Given the description of an element on the screen output the (x, y) to click on. 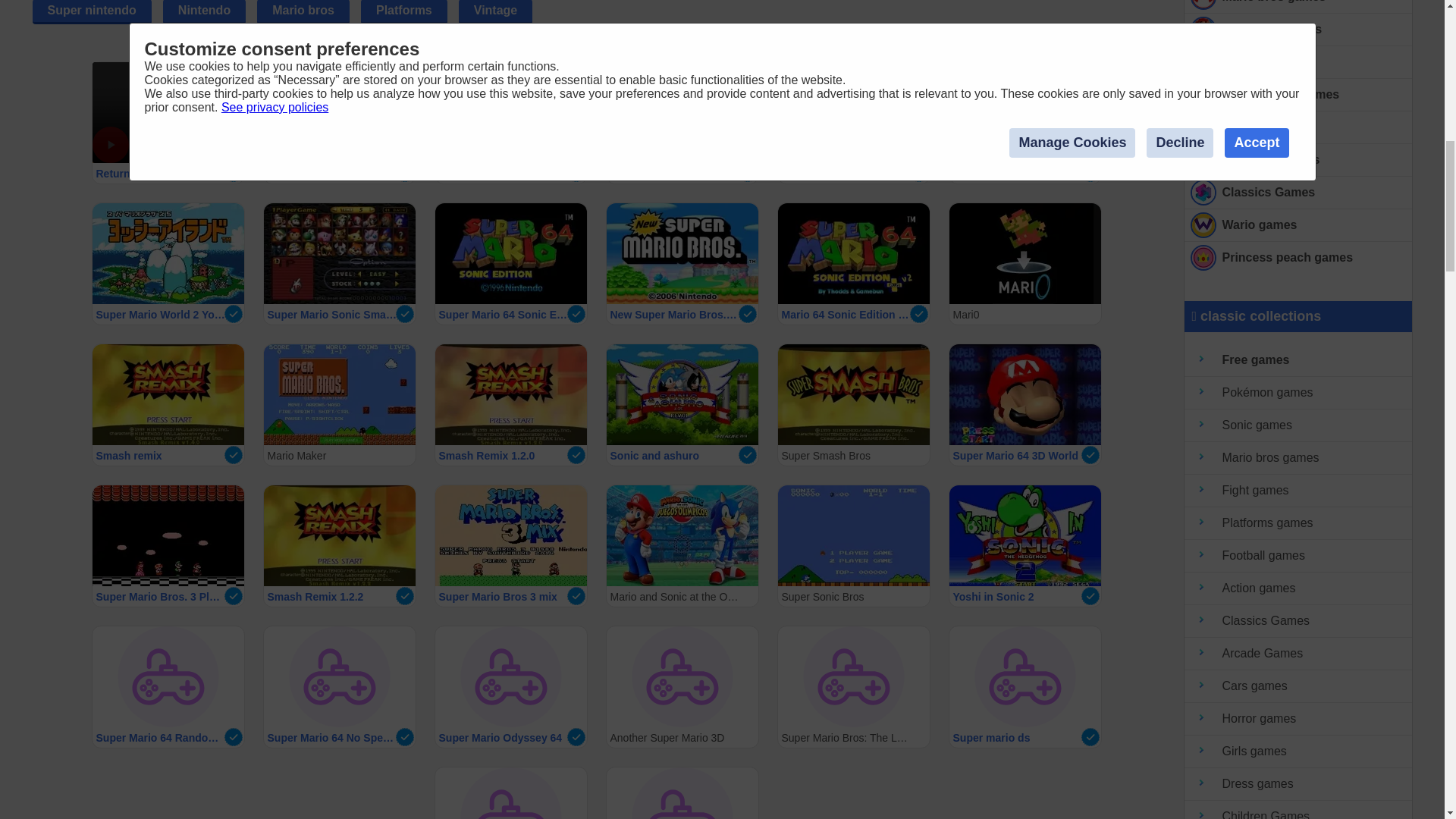
Football games (1298, 555)
Platforms games (1298, 160)
Wario games (1298, 225)
Sonic games (1298, 425)
Free games (1298, 359)
Free Smash remix games, Super Smash Bros (1298, 94)
Mario kart games (1298, 29)
Platforms games (1298, 522)
Free Yoshi games (1298, 61)
Luigi games (1298, 127)
Yoshi games (1298, 61)
Classics Games (1298, 192)
Free Classics games, Timeless classics (1298, 192)
Mario bros games (1298, 458)
Fight games (1298, 490)
